Given the description of an element on the screen output the (x, y) to click on. 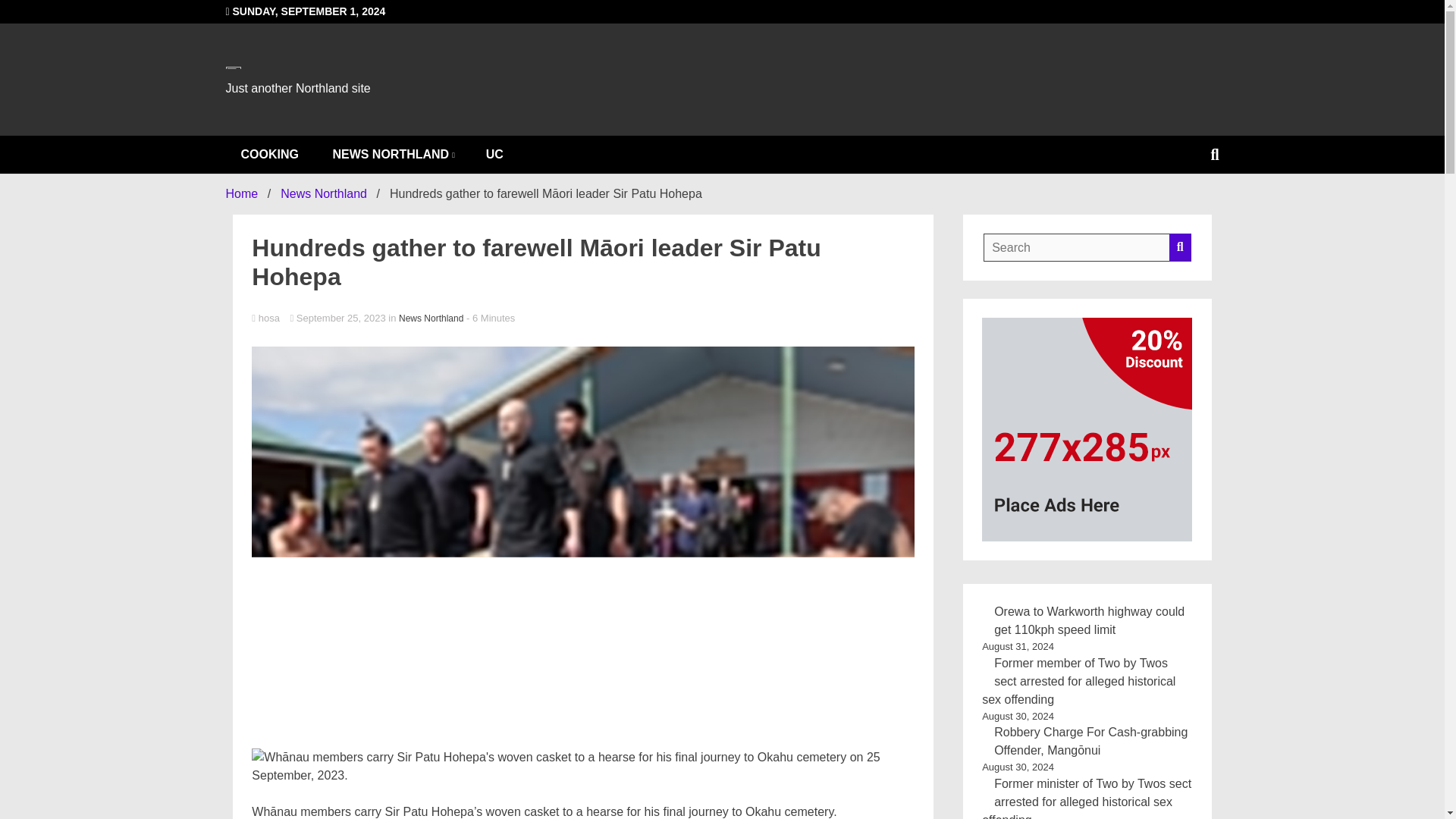
Orewa to Warkworth highway could get 110kph speed limit (1089, 620)
UC (494, 154)
hosa (582, 318)
NEWS NORTHLAND (392, 154)
News Northland (323, 193)
September 25, 2023 (338, 317)
COOKING (269, 154)
Home (242, 193)
News Northland (430, 318)
